Given the description of an element on the screen output the (x, y) to click on. 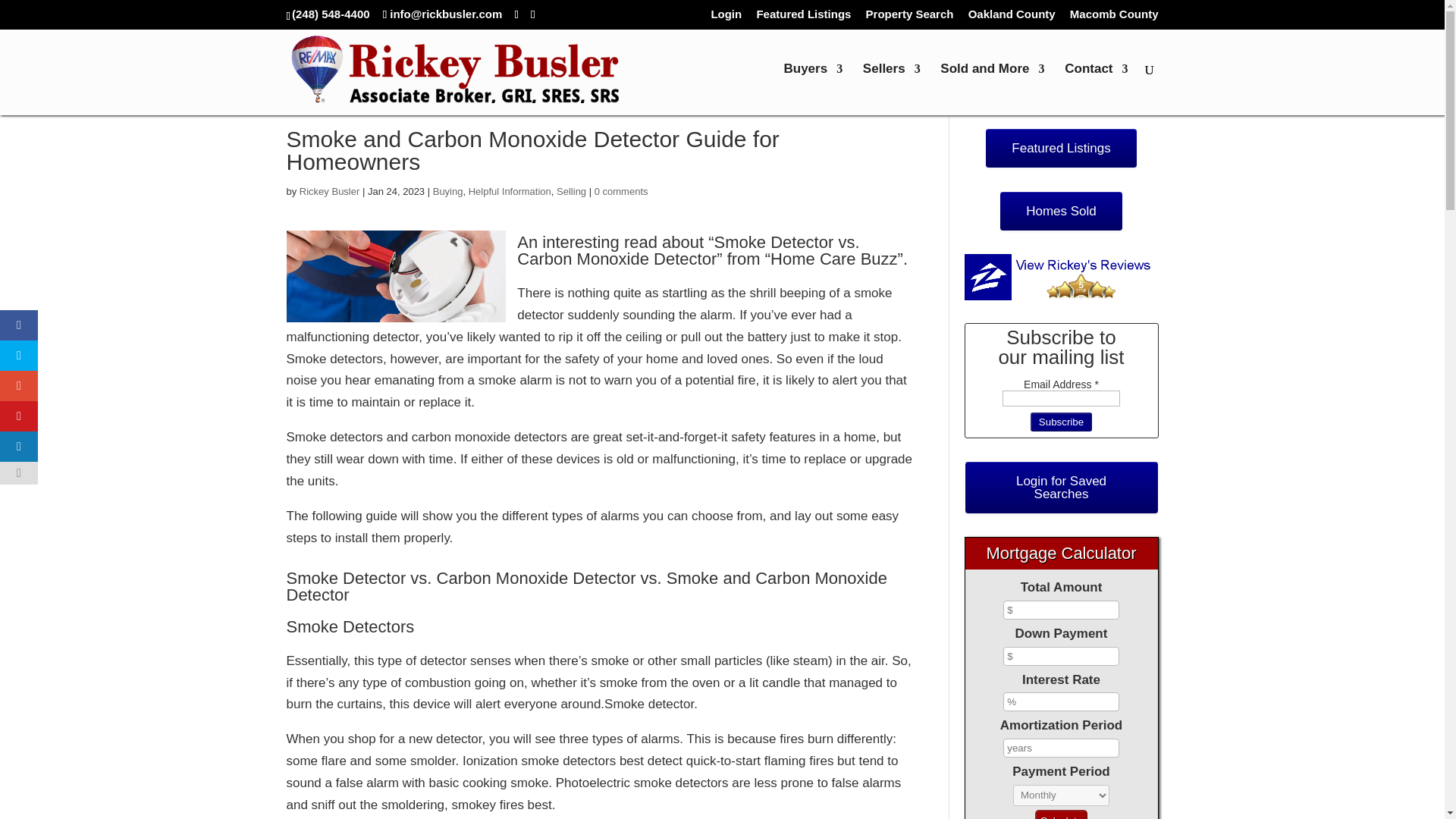
Buyers (813, 89)
Posts by Rickey Busler (329, 191)
Macomb County (1114, 17)
Oakland County (1011, 17)
Sold and More (991, 89)
Calculate (1061, 814)
5 Star Agent on Zillow (1060, 276)
Property Search (909, 17)
Featured Listings (802, 17)
Subscribe (1061, 421)
Contact (1095, 89)
Sellers (891, 89)
Login (725, 17)
